Given the description of an element on the screen output the (x, y) to click on. 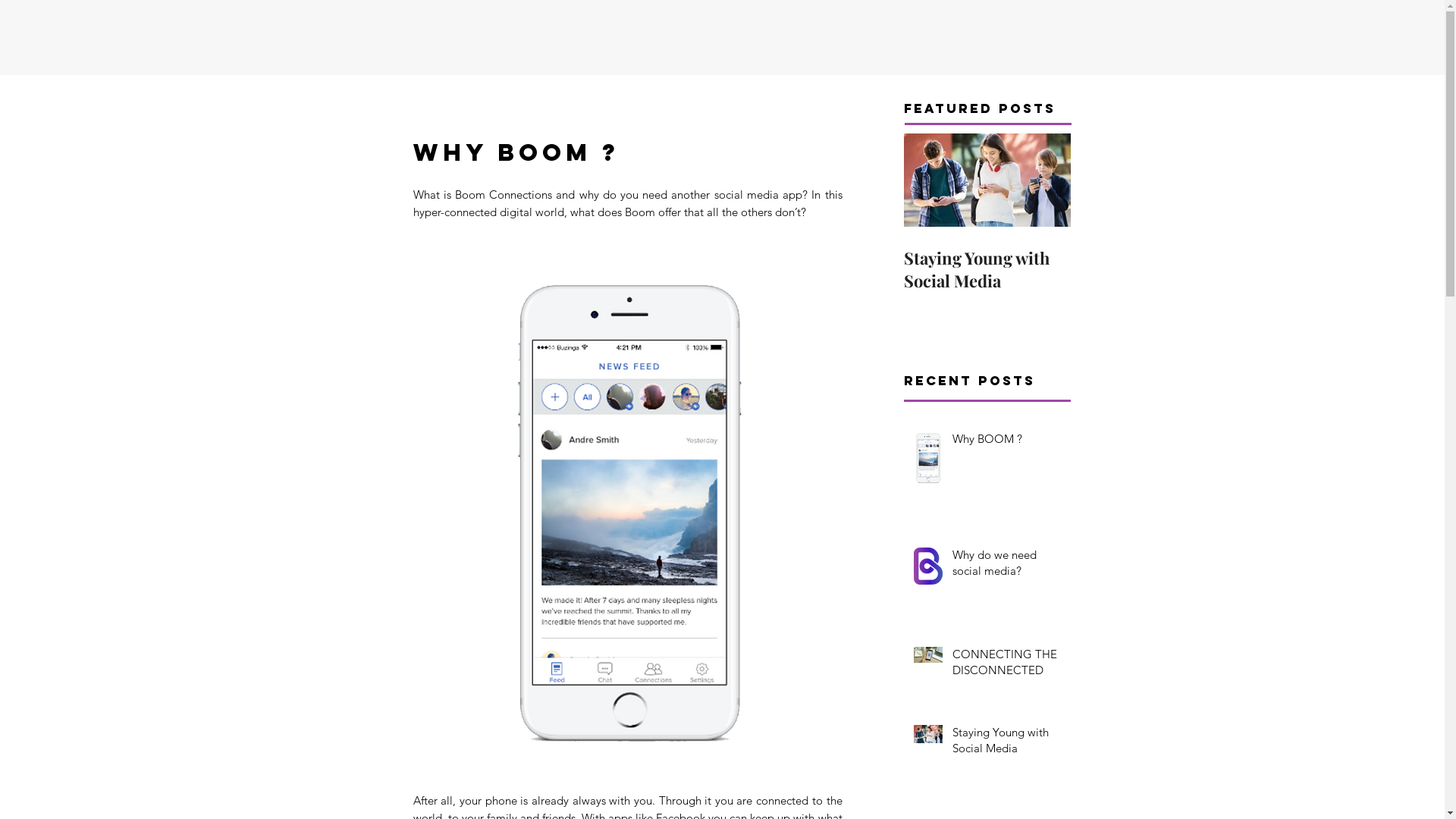
Staying Young with Social Media Element type: text (986, 268)
Why do we need social media? Element type: text (1006, 565)
Staying Young with Social Media Element type: text (1006, 743)
Why BOOM ? Element type: text (1006, 441)
CONNECTING THE DISCONNECTED Element type: text (1006, 665)
